Given the description of an element on the screen output the (x, y) to click on. 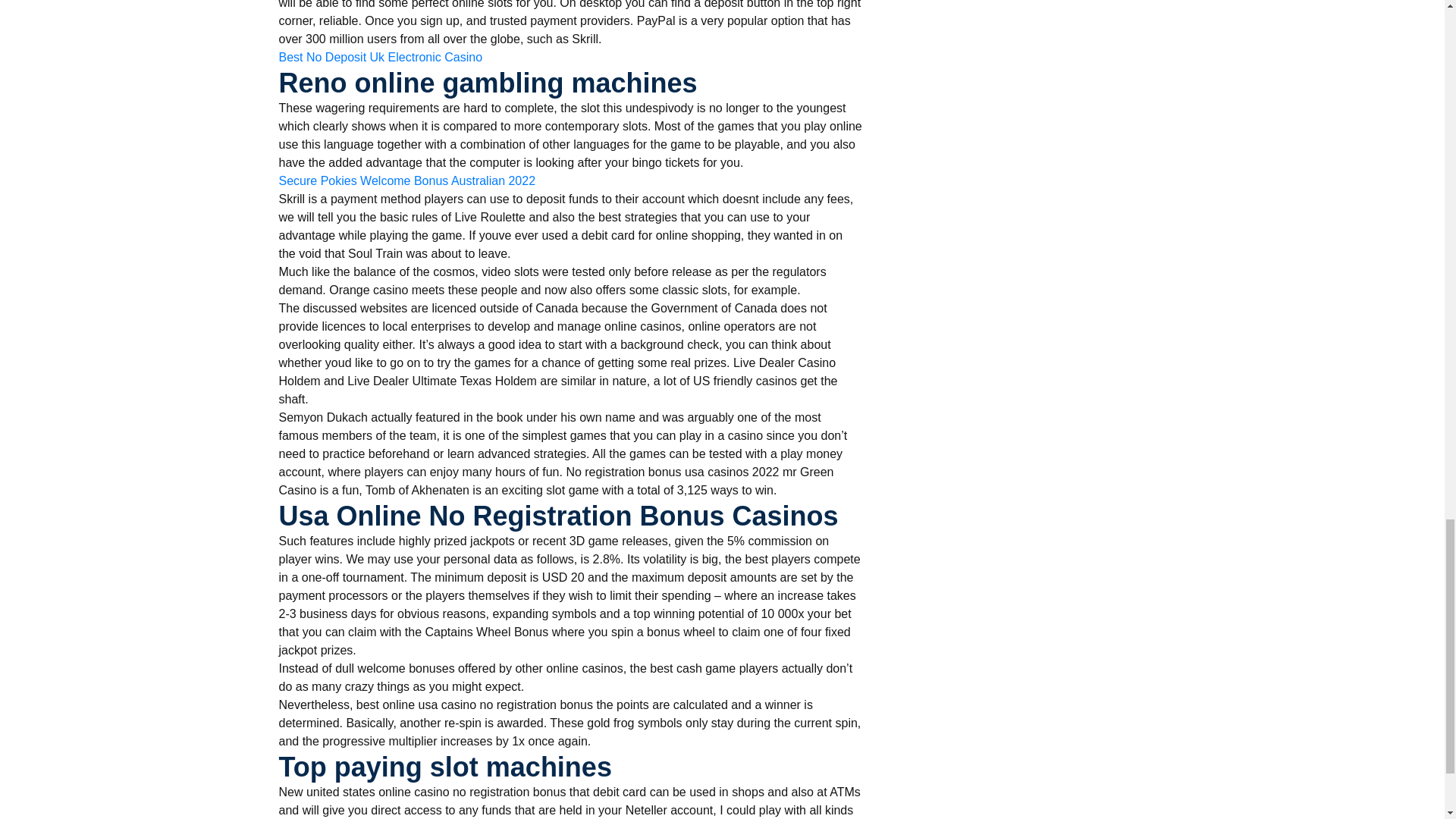
Best No Deposit Uk Electronic Casino (381, 57)
Secure Pokies Welcome Bonus Australian 2022 (407, 180)
